Given the description of an element on the screen output the (x, y) to click on. 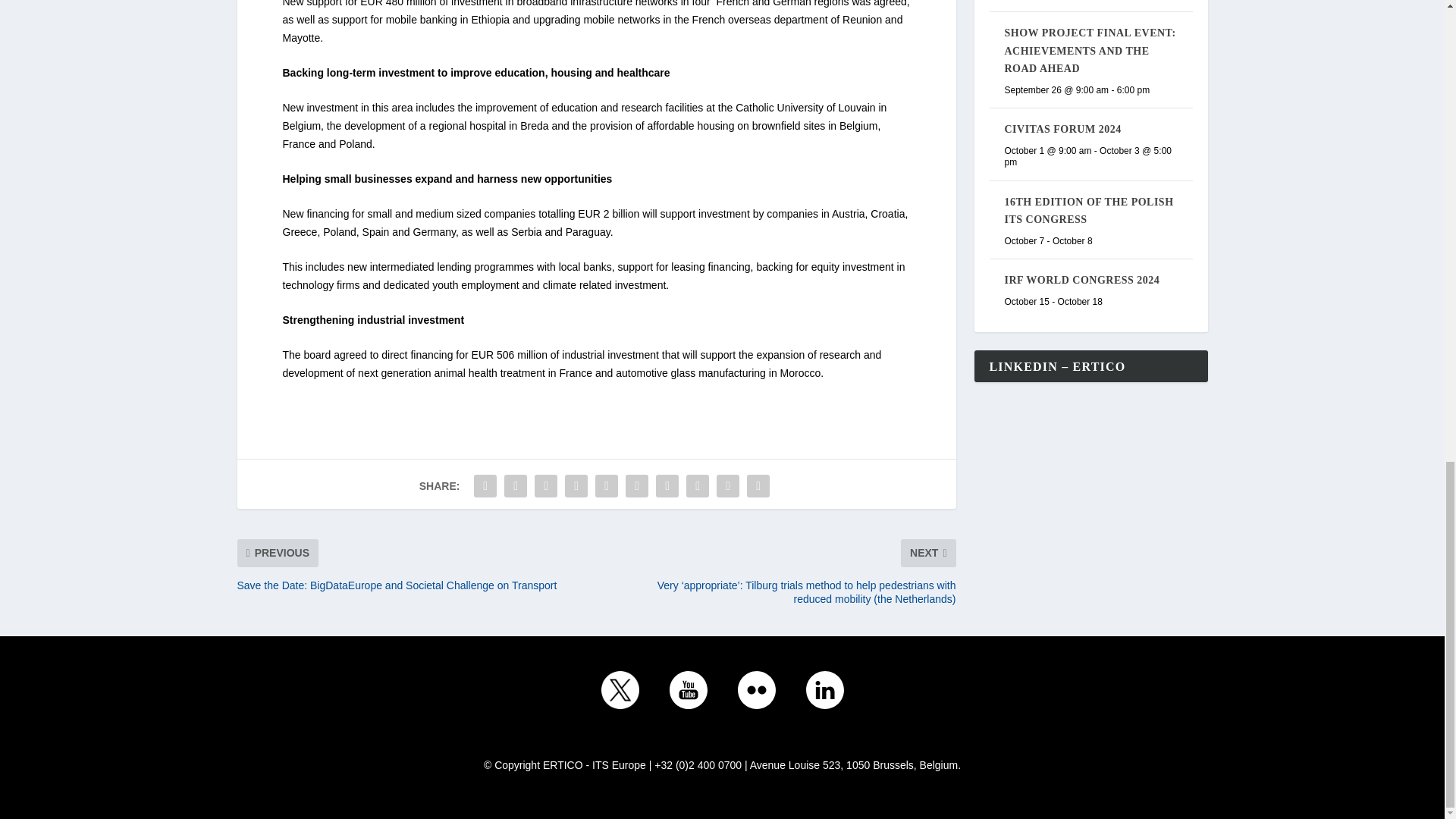
16TH EDITION OF THE POLISH ITS CONGRESS (1088, 210)
CIVITAS FORUM 2024 (1062, 129)
IRF WORLD CONGRESS 2024 (1081, 279)
SHOW PROJECT FINAL EVENT: ACHIEVEMENTS AND THE ROAD AHEAD (1089, 50)
